Given the description of an element on the screen output the (x, y) to click on. 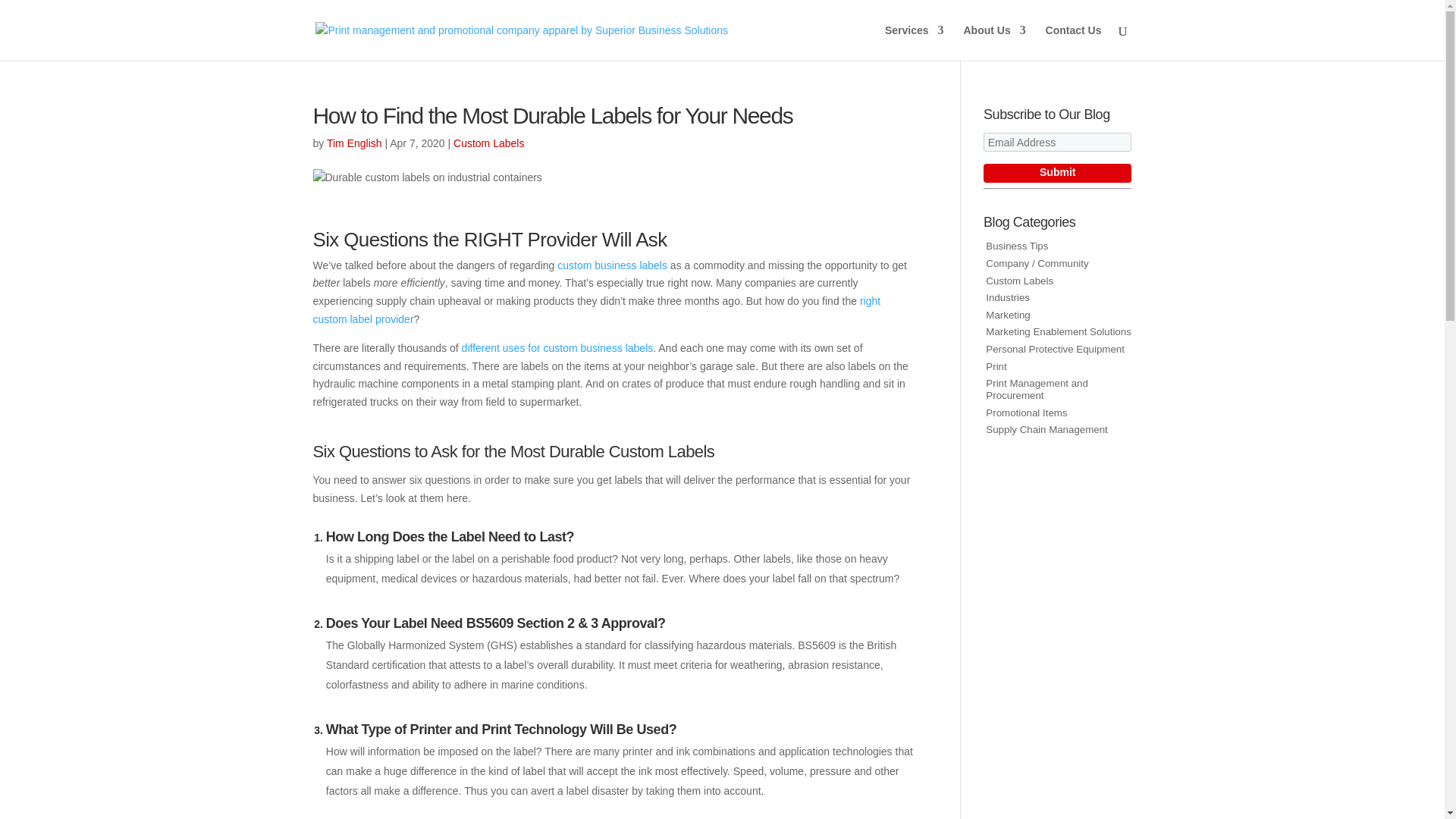
right custom label provider (596, 309)
Marketing Enablement Solutions (1058, 331)
Marketing (1007, 315)
Services (914, 42)
Supply Chain Management (1045, 429)
Personal Protective Equipment (1054, 348)
Posts by Tim English (353, 143)
About Us (993, 42)
Submit (1057, 173)
Print (995, 366)
Custom Labels (488, 143)
Business Tips (1016, 245)
Custom Labels (1018, 280)
Promotional Items (1026, 412)
Tim English (353, 143)
